Given the description of an element on the screen output the (x, y) to click on. 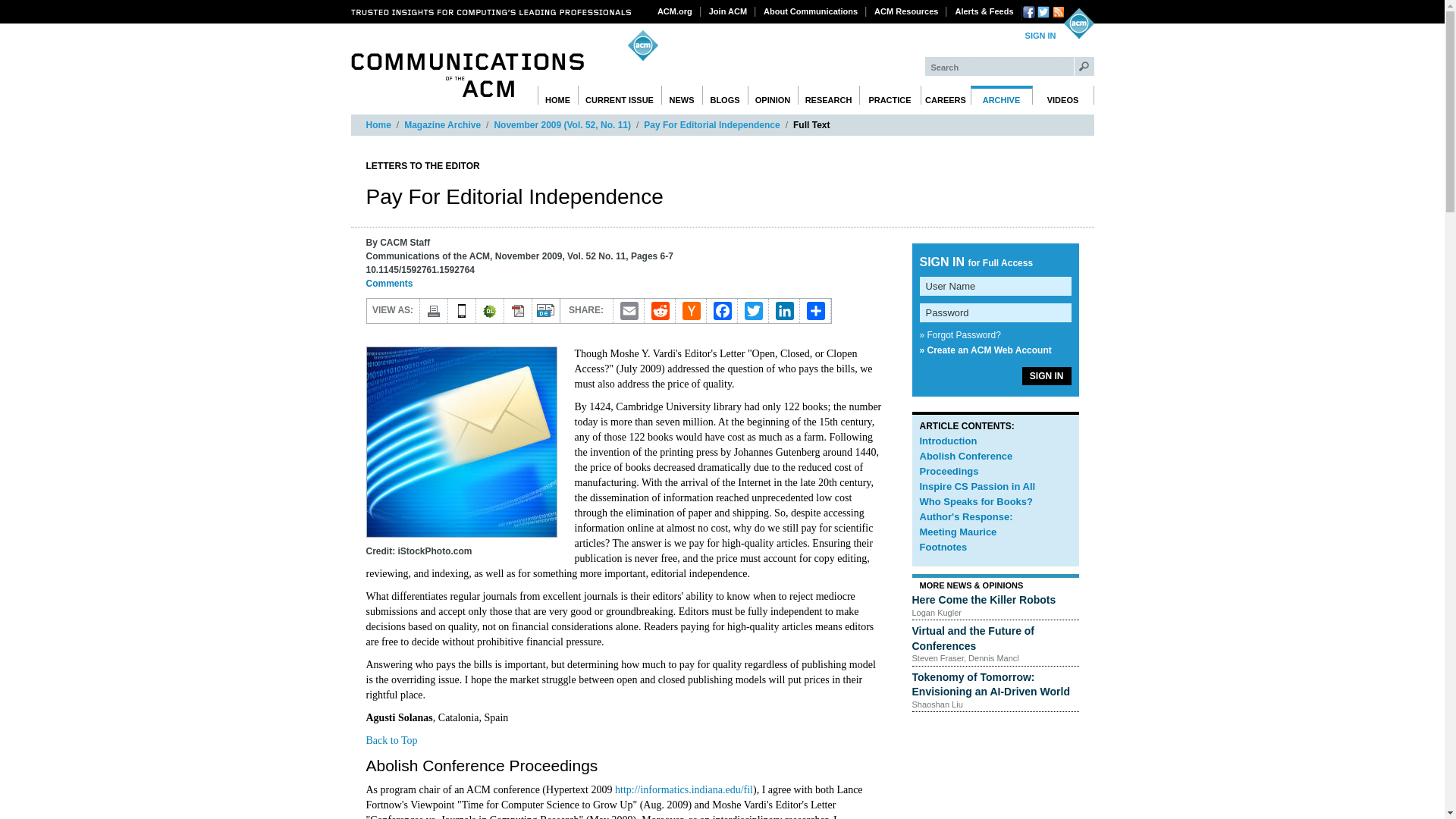
letters to the editor illustration (460, 441)
ACM Resources (906, 11)
RESEARCH (828, 94)
Communications of the ACM (466, 75)
PRACTICE (889, 94)
Go (1084, 66)
HOME (557, 94)
View as PDF (517, 310)
ACM (1077, 23)
View in Digital Edition (546, 310)
Communications of the ACM (466, 75)
Join ACM (727, 11)
OPINION (772, 94)
ACM (1077, 23)
Print (434, 310)
